Given the description of an element on the screen output the (x, y) to click on. 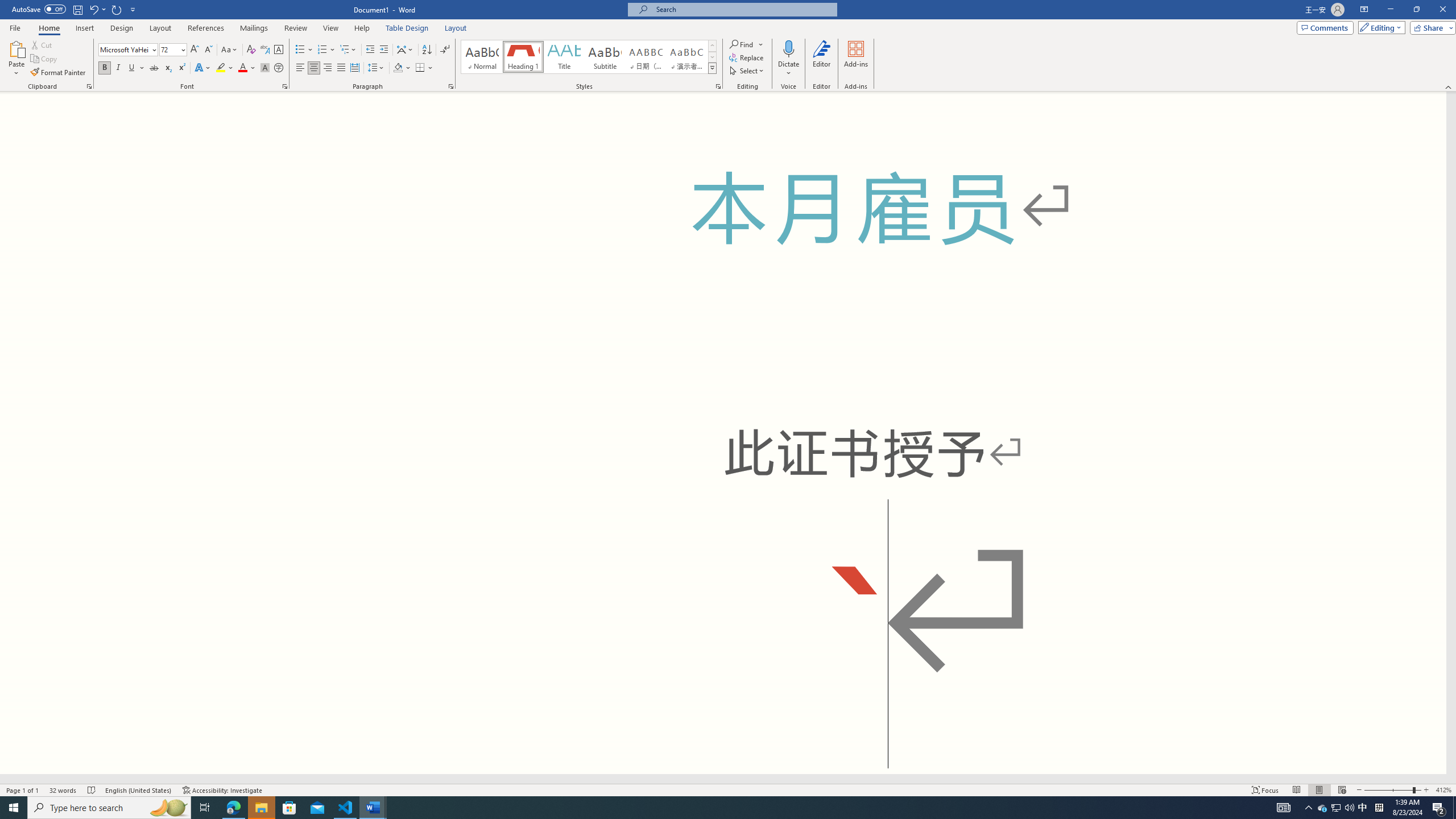
Repeat Doc Close (117, 9)
Font Color Red (241, 67)
Page Number Page 1 of 1 (22, 790)
